Given the description of an element on the screen output the (x, y) to click on. 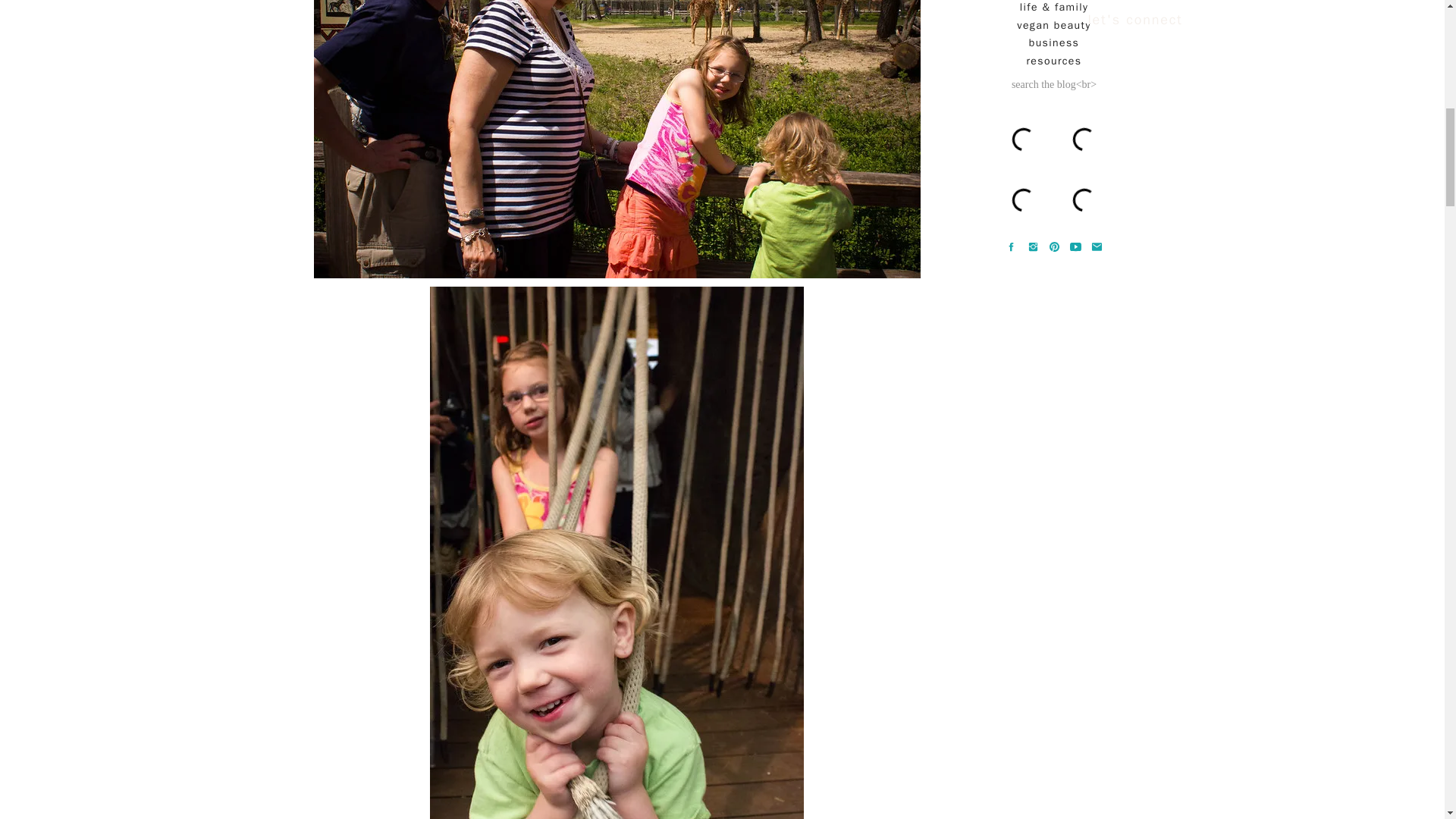
vegan beauty (1053, 25)
follow along on insta (1053, 172)
resources (1053, 61)
business (1053, 42)
